Given the description of an element on the screen output the (x, y) to click on. 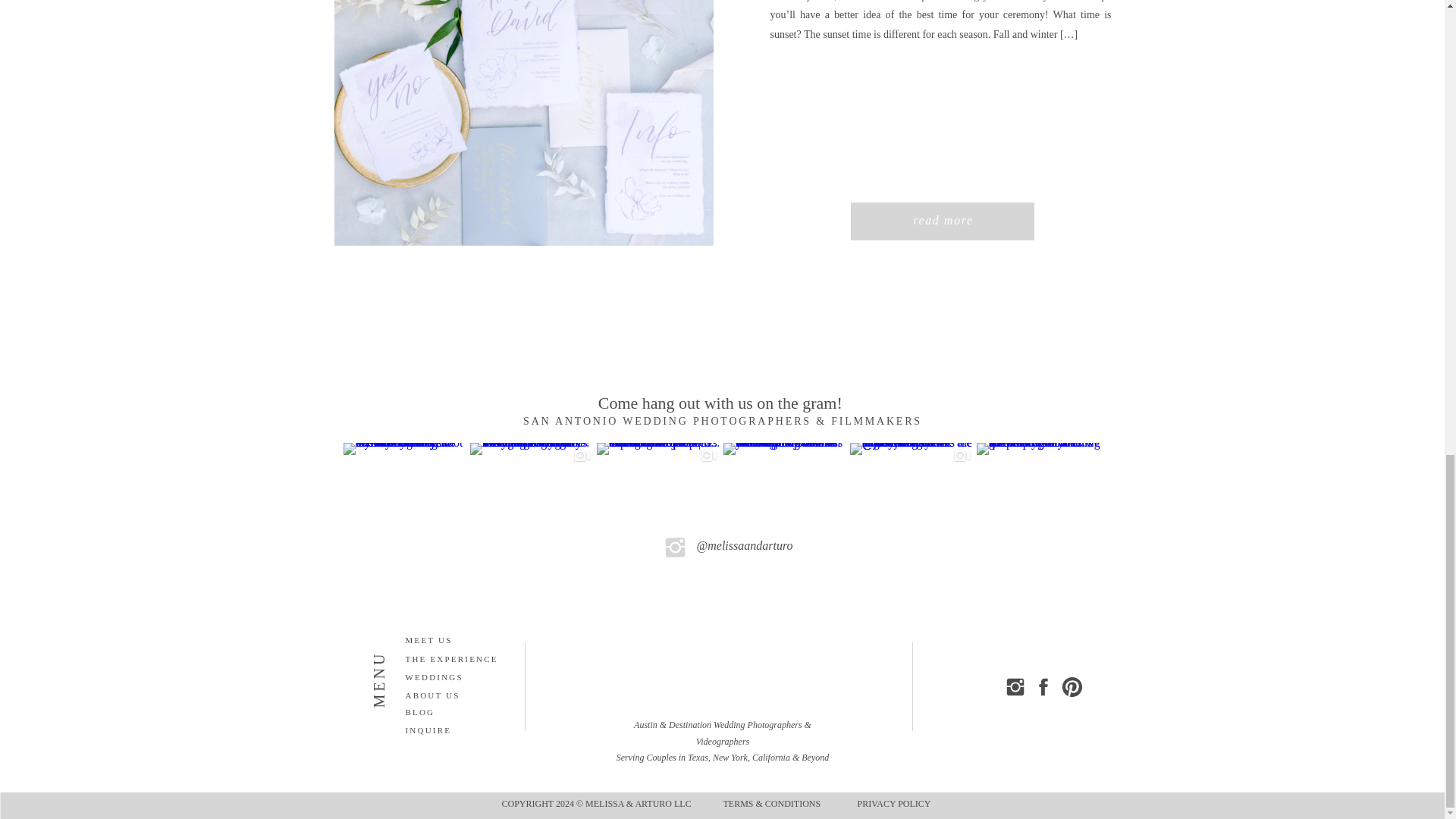
MEET US (448, 641)
BLOG (438, 712)
4 Tips For Setting Your Ceremony Time (523, 122)
4 Tips For Setting Your Ceremony Time (943, 220)
ABOUT US (438, 694)
read more (943, 220)
WEDDINGS (439, 679)
PRIVACY POLICY (896, 805)
INQUIRE (463, 732)
THE EXPERIENCE (459, 660)
